Given the description of an element on the screen output the (x, y) to click on. 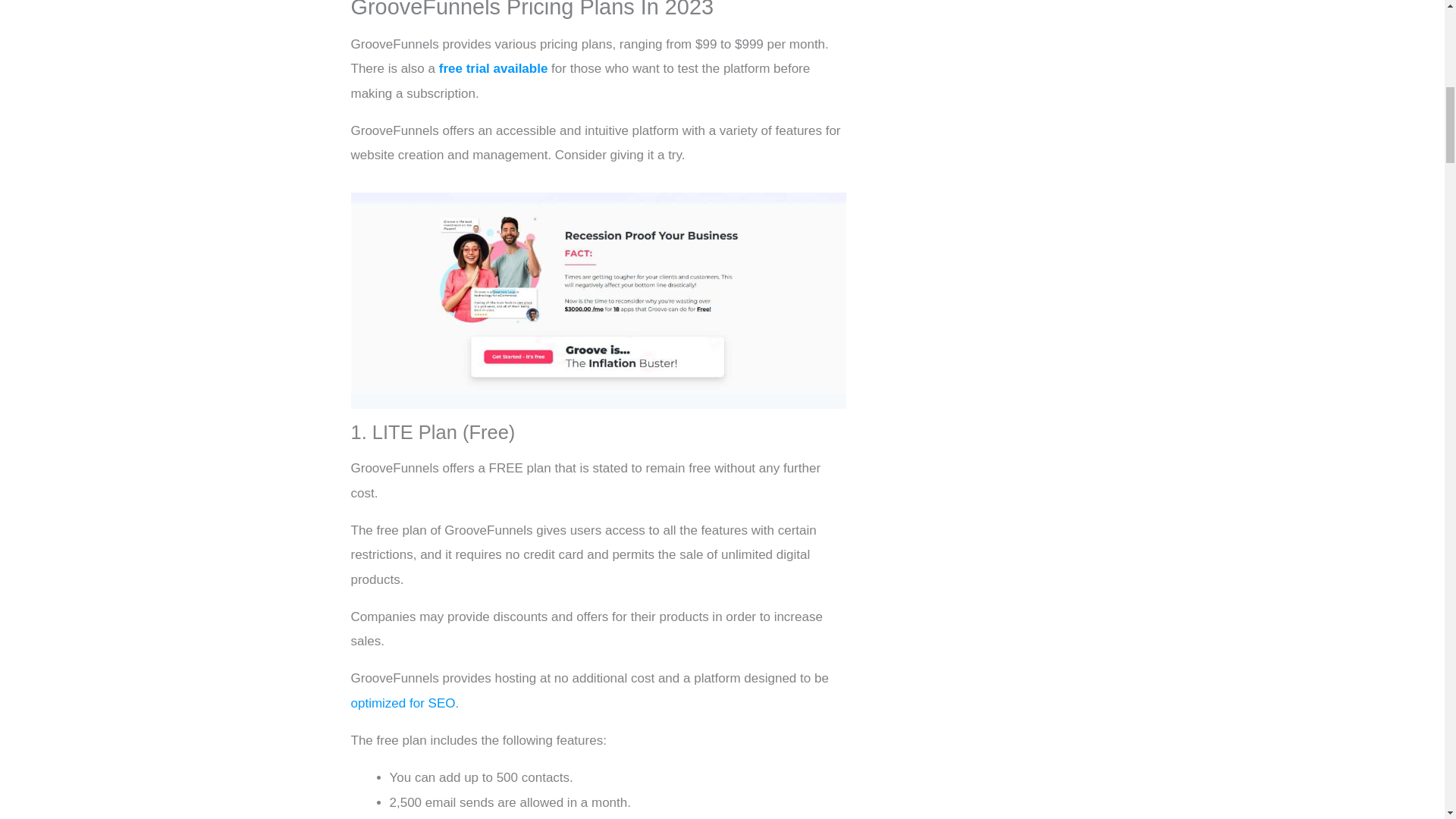
optimized for SEO (402, 703)
free trial available (493, 68)
